Given the description of an element on the screen output the (x, y) to click on. 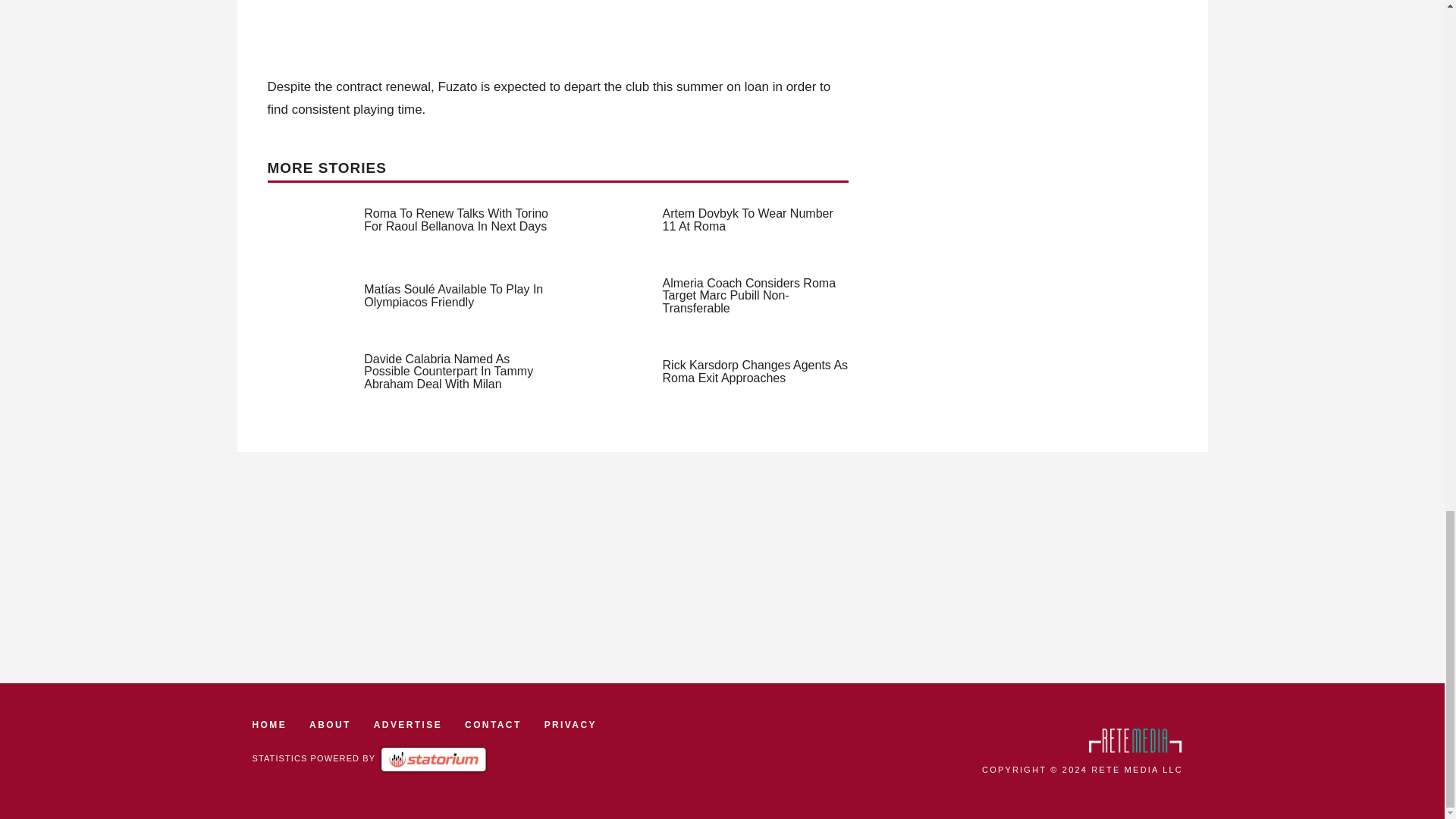
PRIVACY (570, 725)
Artem Dovbyk To Wear Number 11 At Roma (747, 219)
CONTACT (492, 725)
X (1434, 268)
HOME (268, 725)
Rick Karsdorp Changes Agents As Roma Exit Approaches (755, 371)
ADVERTISE (408, 725)
